Given the description of an element on the screen output the (x, y) to click on. 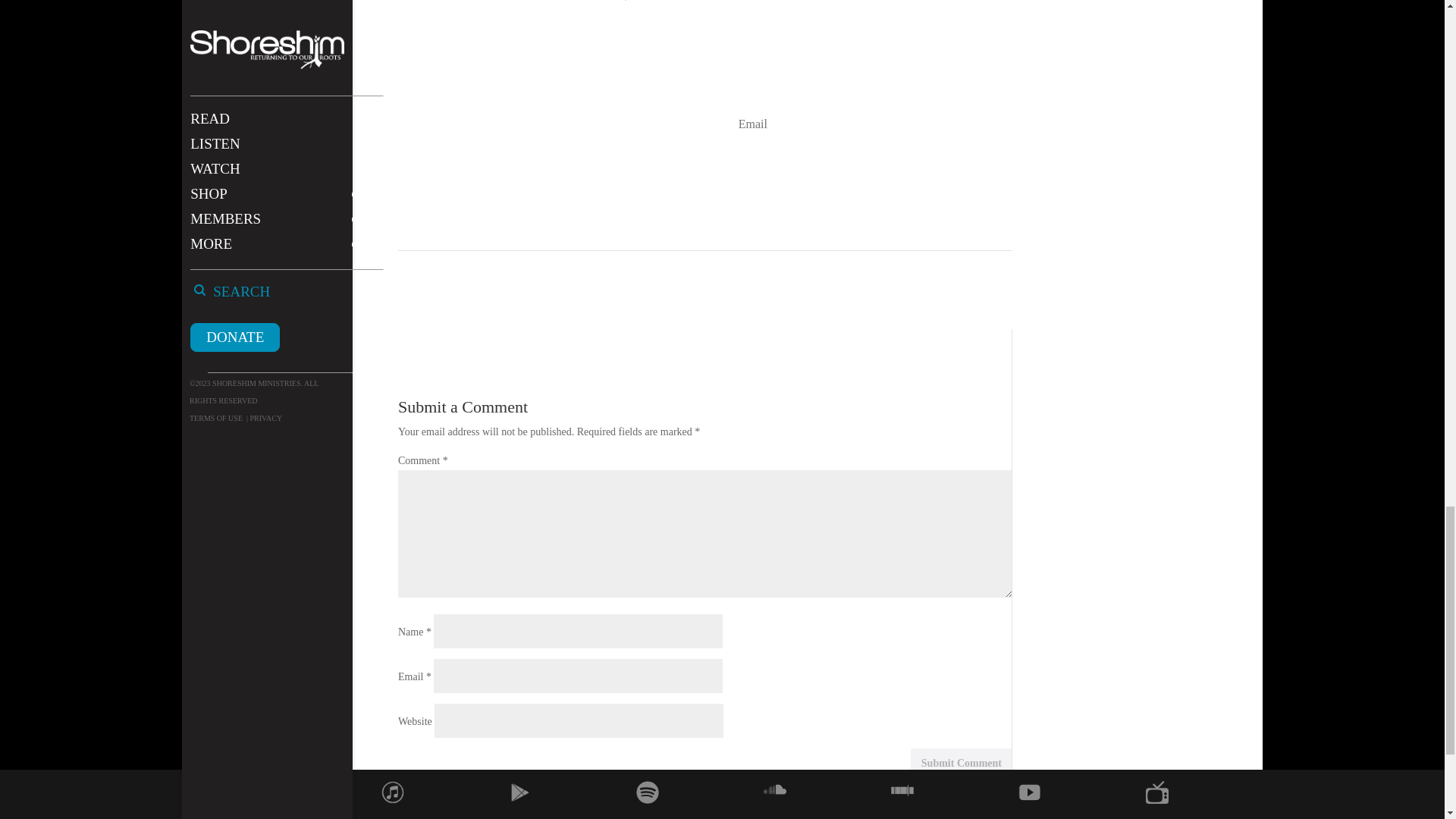
Submit Comment (961, 763)
SIGN UP (860, 171)
Submit Comment (961, 763)
